Given the description of an element on the screen output the (x, y) to click on. 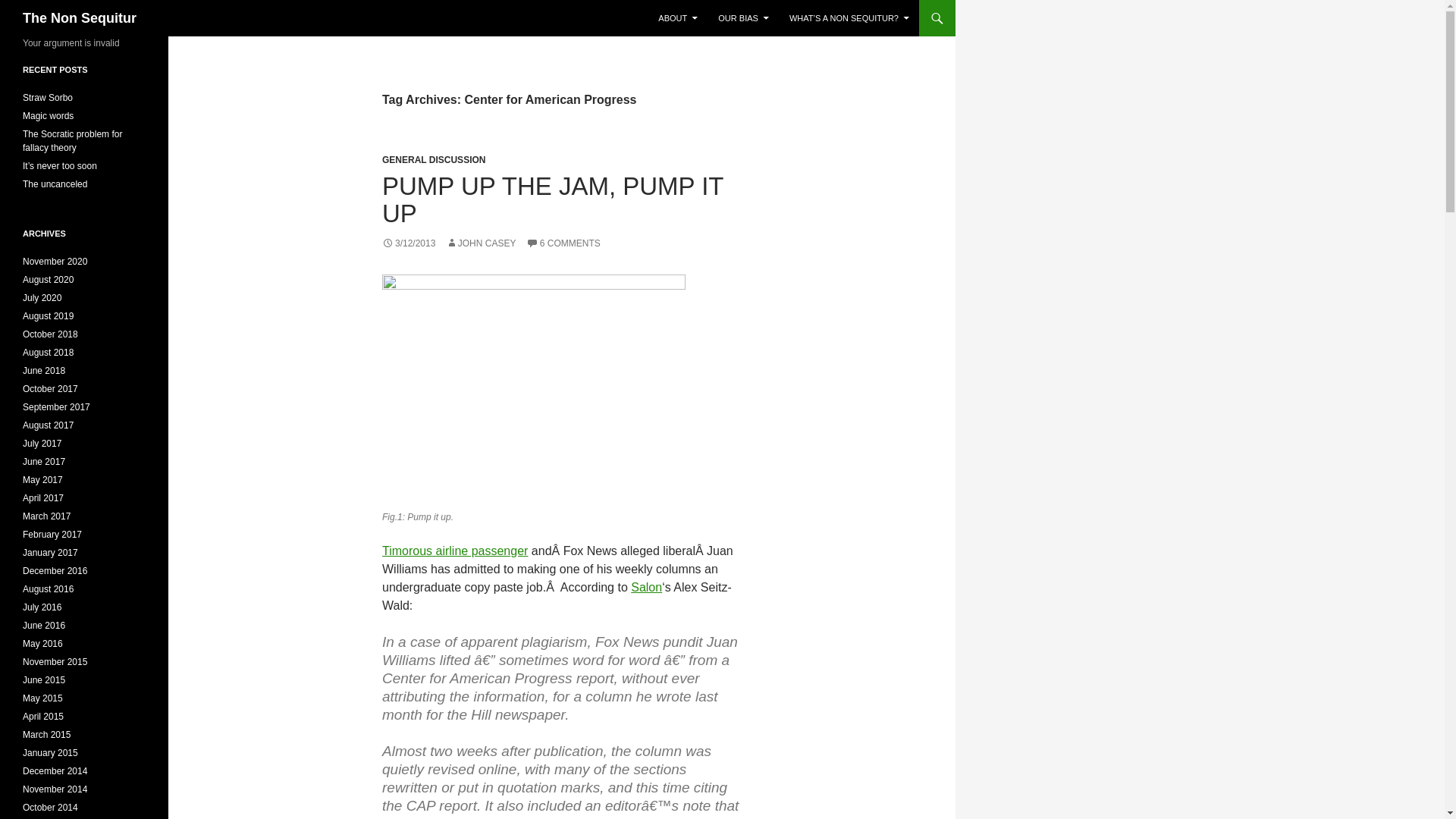
6 COMMENTS (562, 243)
The uncanceled (55, 184)
Magic words (48, 115)
The Non Sequitur (79, 18)
August 2018 (48, 352)
Salon (646, 586)
November 2020 (55, 261)
Timorous airline passenger (454, 550)
The Socratic problem for fallacy theory (72, 140)
August 2019 (48, 316)
